Given the description of an element on the screen output the (x, y) to click on. 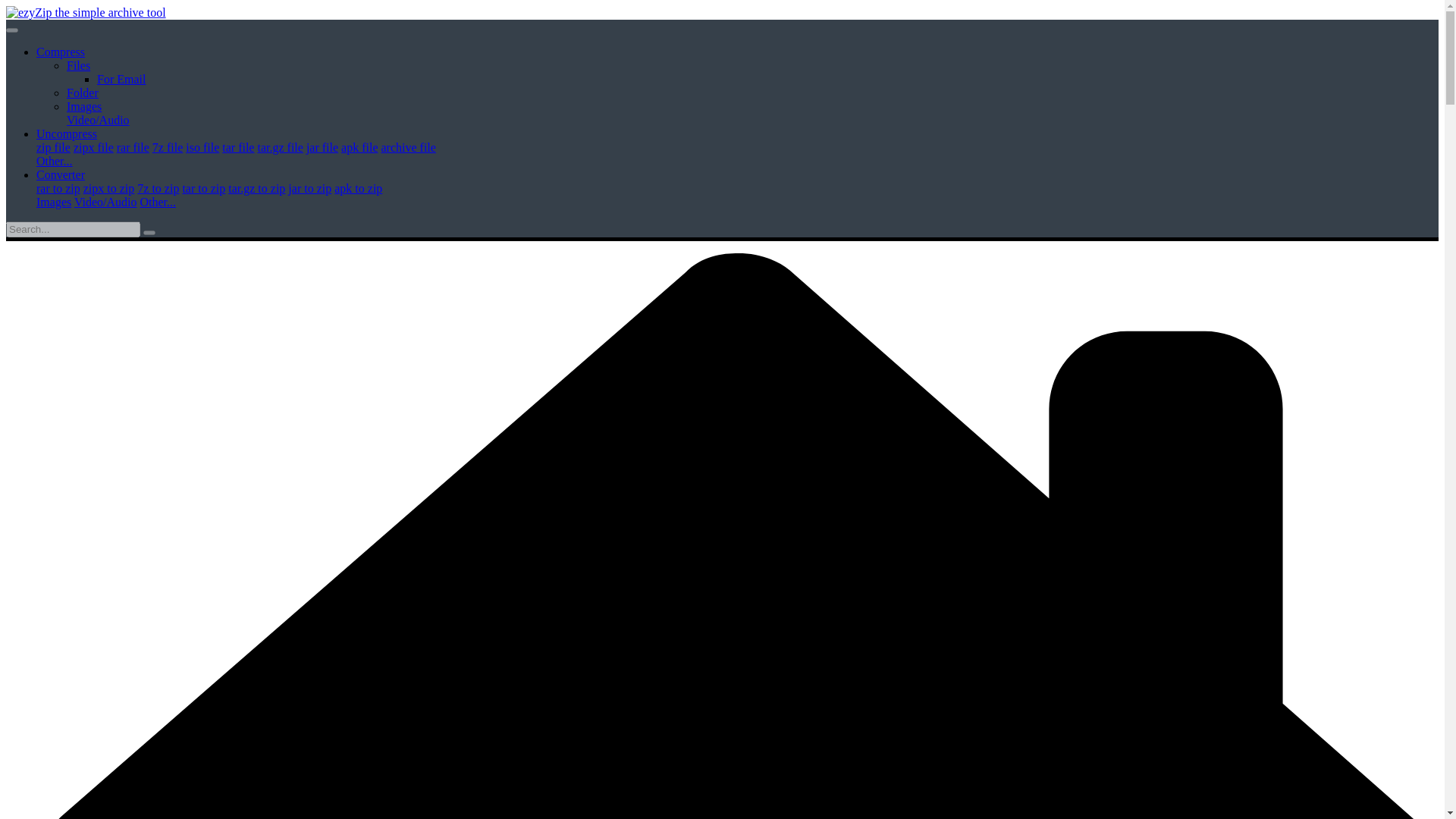
zip file (52, 146)
Other... (54, 160)
tar to zip (203, 187)
tar file (237, 146)
rar file (132, 146)
zipx to zip (108, 187)
Converter (60, 174)
Folder (82, 92)
tar.gz file (279, 146)
7z file (167, 146)
